Given the description of an element on the screen output the (x, y) to click on. 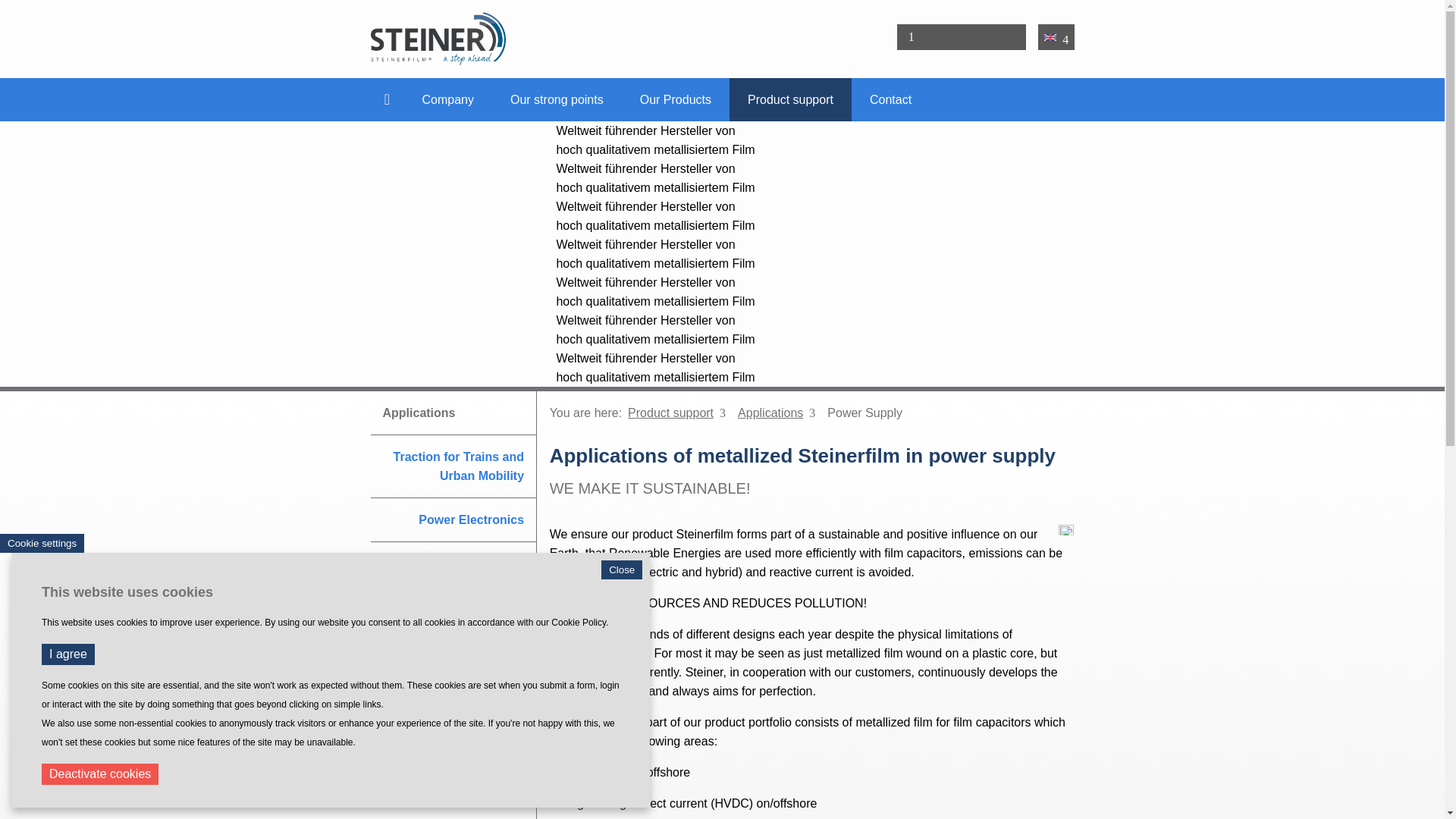
Our strong points (556, 99)
Our Products (675, 99)
Company (447, 99)
I agree (68, 654)
Company (447, 99)
Deactivate cookies (100, 773)
Product support (790, 99)
Our strong points (556, 99)
